Given the description of an element on the screen output the (x, y) to click on. 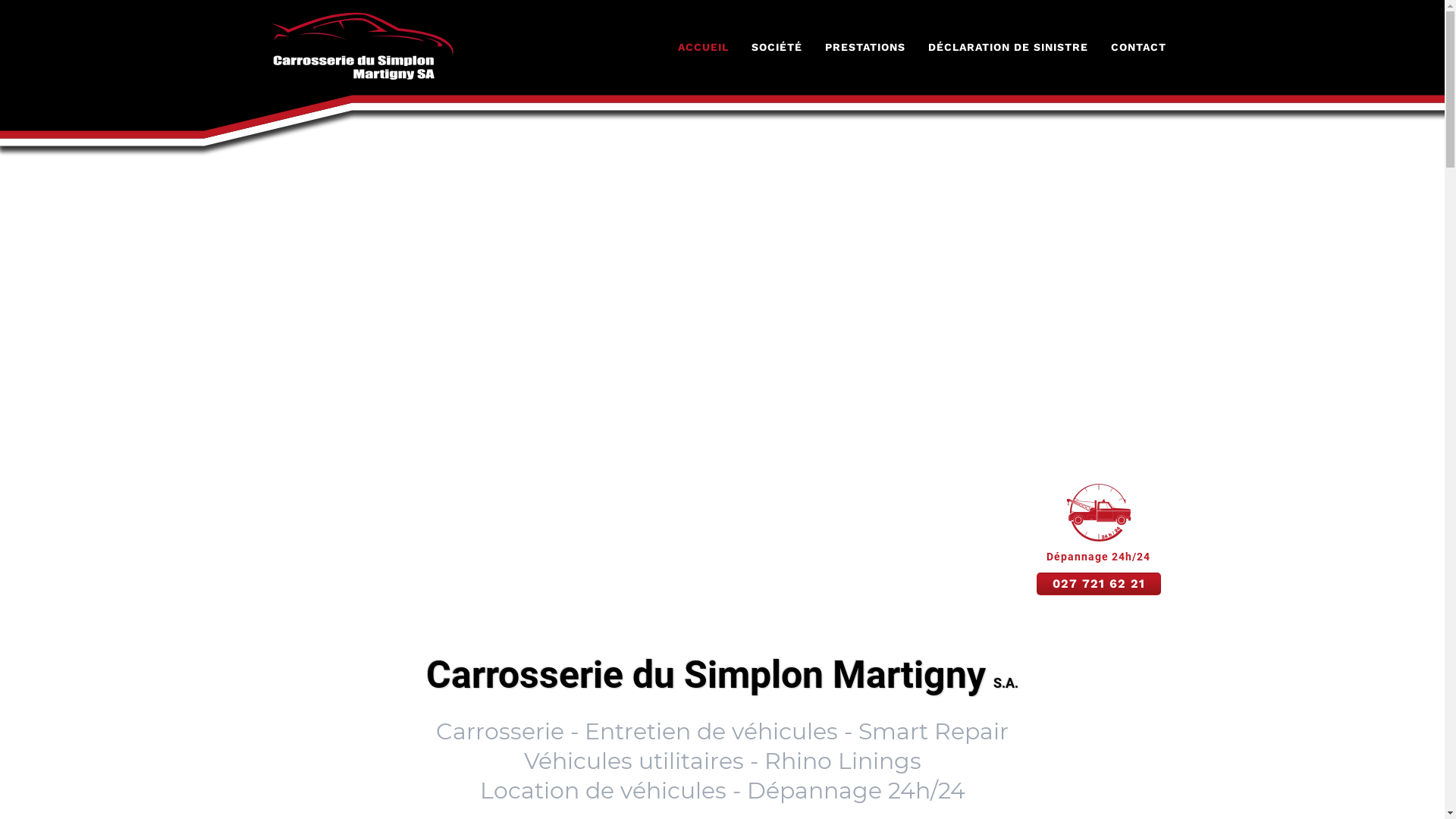
PRESTATIONS Element type: text (864, 46)
CONTACT Element type: text (1138, 46)
027 721 62 21 Element type: text (1097, 583)
ACCUEIL Element type: text (702, 46)
